Given the description of an element on the screen output the (x, y) to click on. 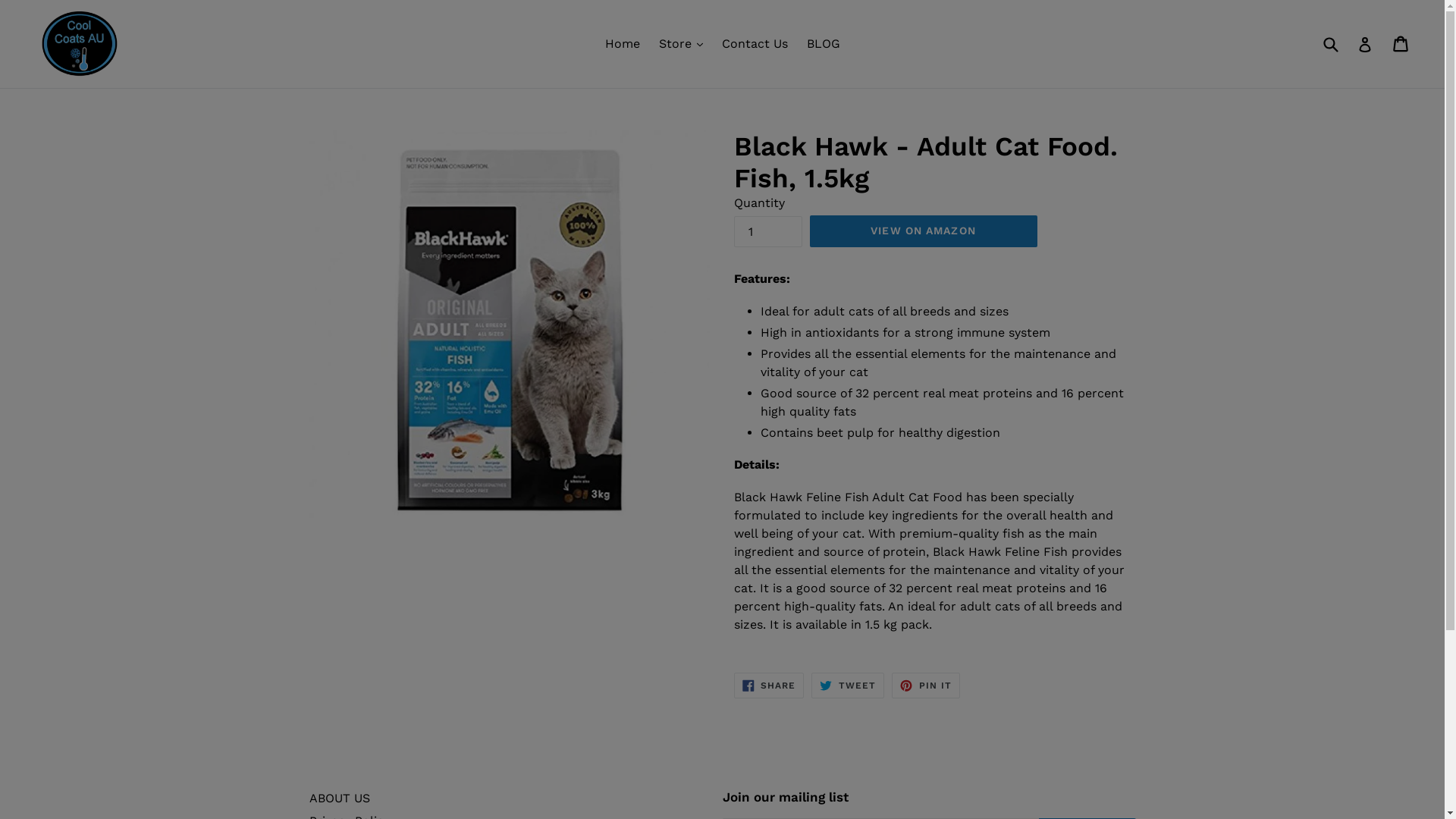
BLOG Element type: text (823, 43)
Log in Element type: text (1364, 43)
Cart
Cart Element type: text (1401, 43)
Contact Us Element type: text (754, 43)
SHARE
SHARE ON FACEBOOK Element type: text (769, 685)
PIN IT
PIN ON PINTEREST Element type: text (925, 685)
TWEET
TWEET ON TWITTER Element type: text (847, 685)
VIEW ON AMAZON Element type: text (923, 231)
Home Element type: text (622, 43)
ABOUT US Element type: text (339, 797)
Submit Element type: text (1329, 43)
